Given the description of an element on the screen output the (x, y) to click on. 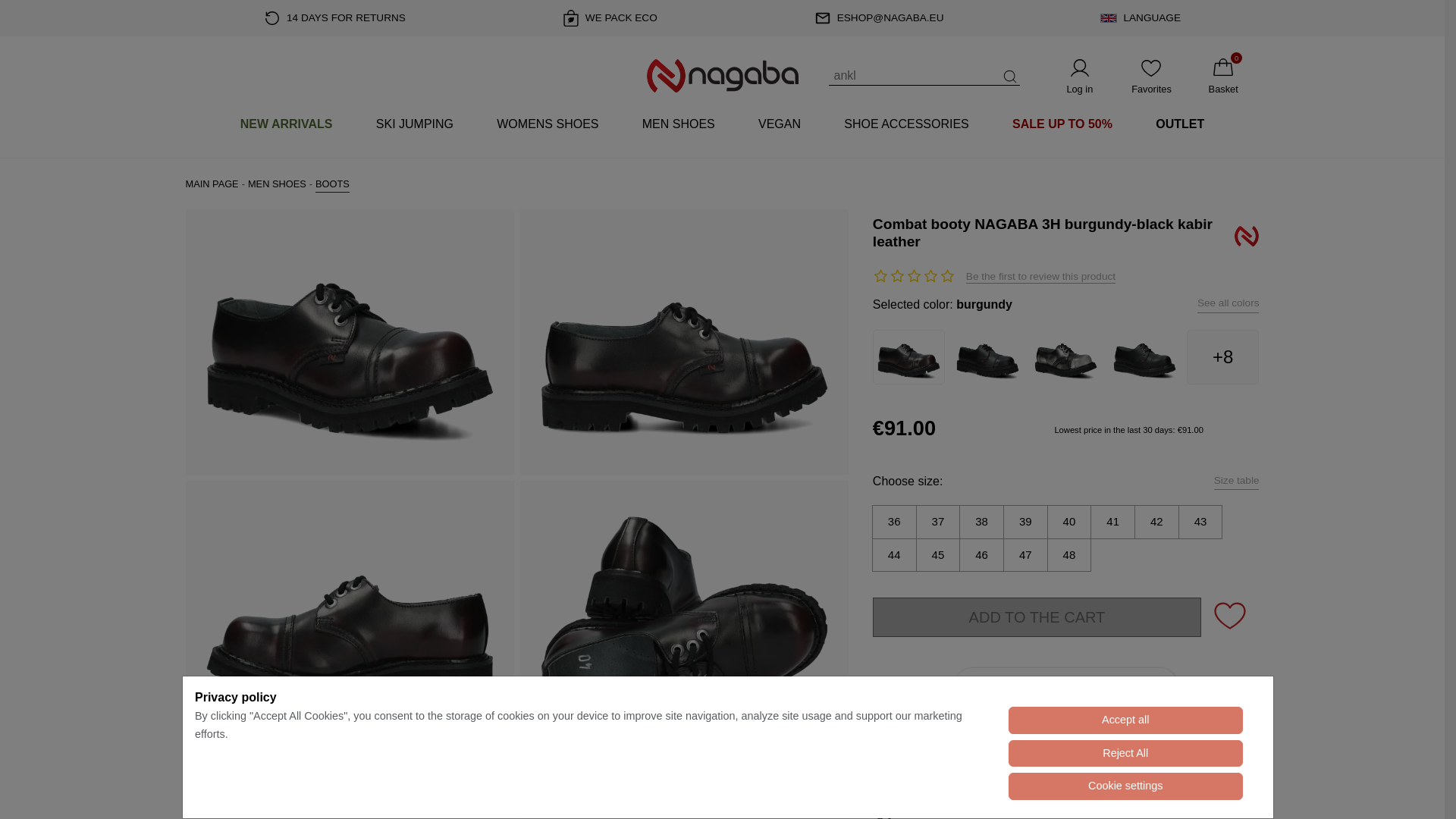
Log in (1079, 75)
WOMENS SHOES (547, 124)
NEW ARRIVALS (285, 124)
Favorites (1151, 75)
Basket (1223, 75)
SKI JUMPING (414, 124)
LANGUAGE (1140, 17)
